Given the description of an element on the screen output the (x, y) to click on. 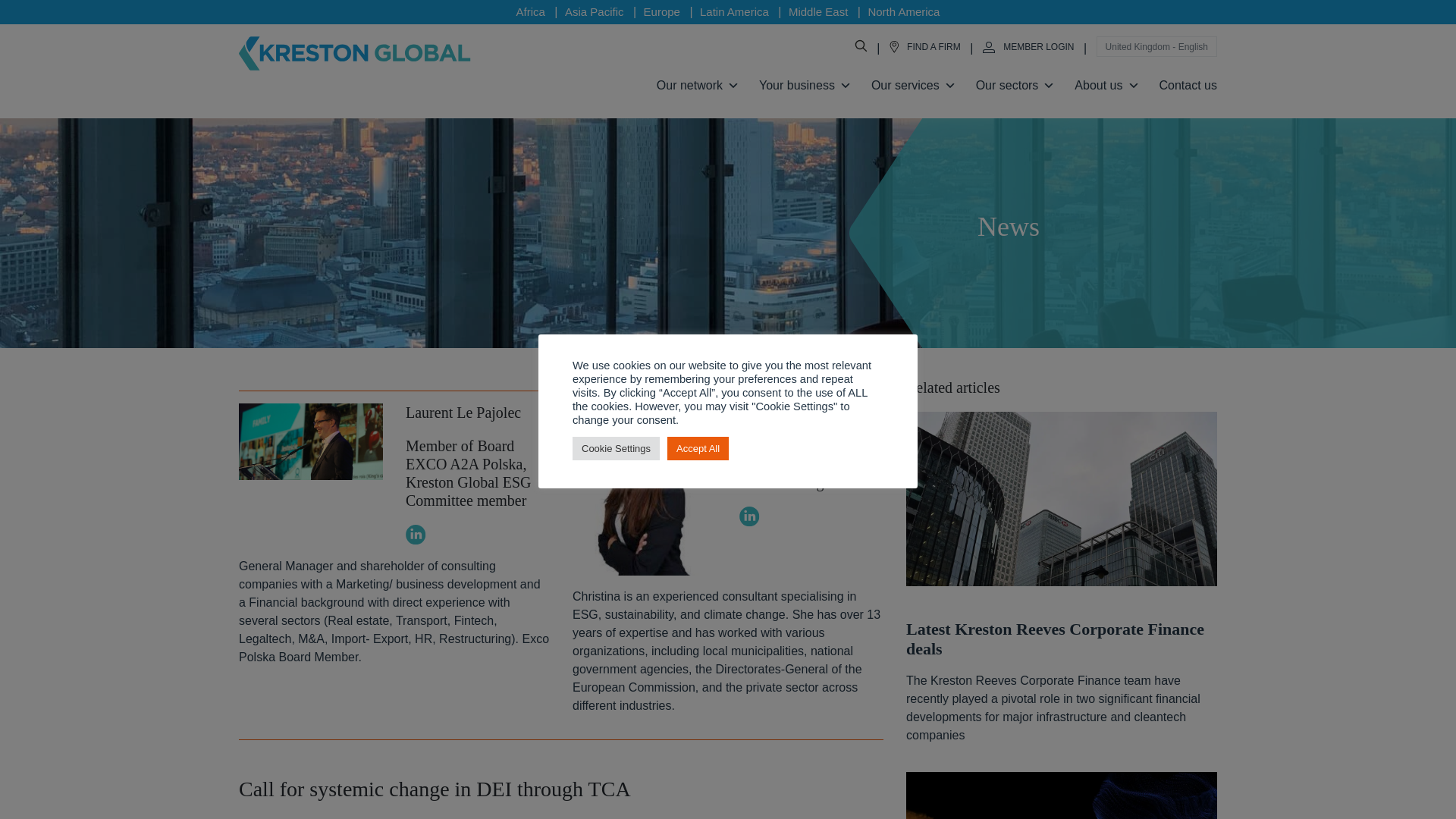
North America (903, 11)
MEMBER LOGIN (1028, 46)
Europe (661, 11)
United Kingdom - English (1156, 46)
Search Kreston International (860, 46)
Africa (530, 11)
Middle East (818, 11)
Asia Pacific (594, 11)
Latin America (734, 11)
FIND A FIRM (924, 46)
United Kingdom - English (1156, 46)
